Given the description of an element on the screen output the (x, y) to click on. 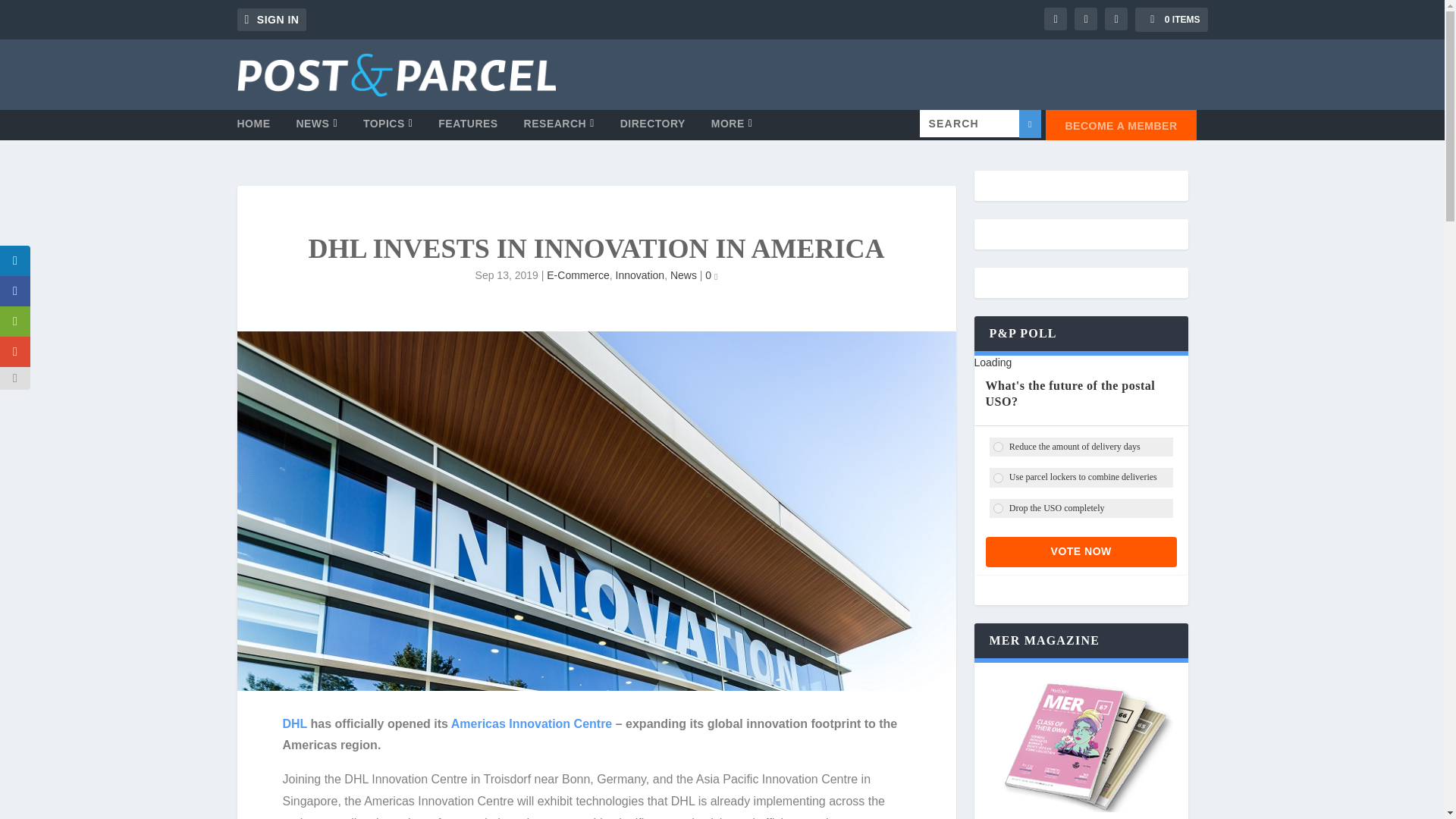
281 (997, 478)
SIGN IN (270, 19)
0 Items in Cart (1171, 19)
NEWS (316, 128)
HOME (252, 128)
TOPICS (387, 128)
280 (997, 447)
0 ITEMS (1171, 19)
282 (997, 508)
